Given the description of an element on the screen output the (x, y) to click on. 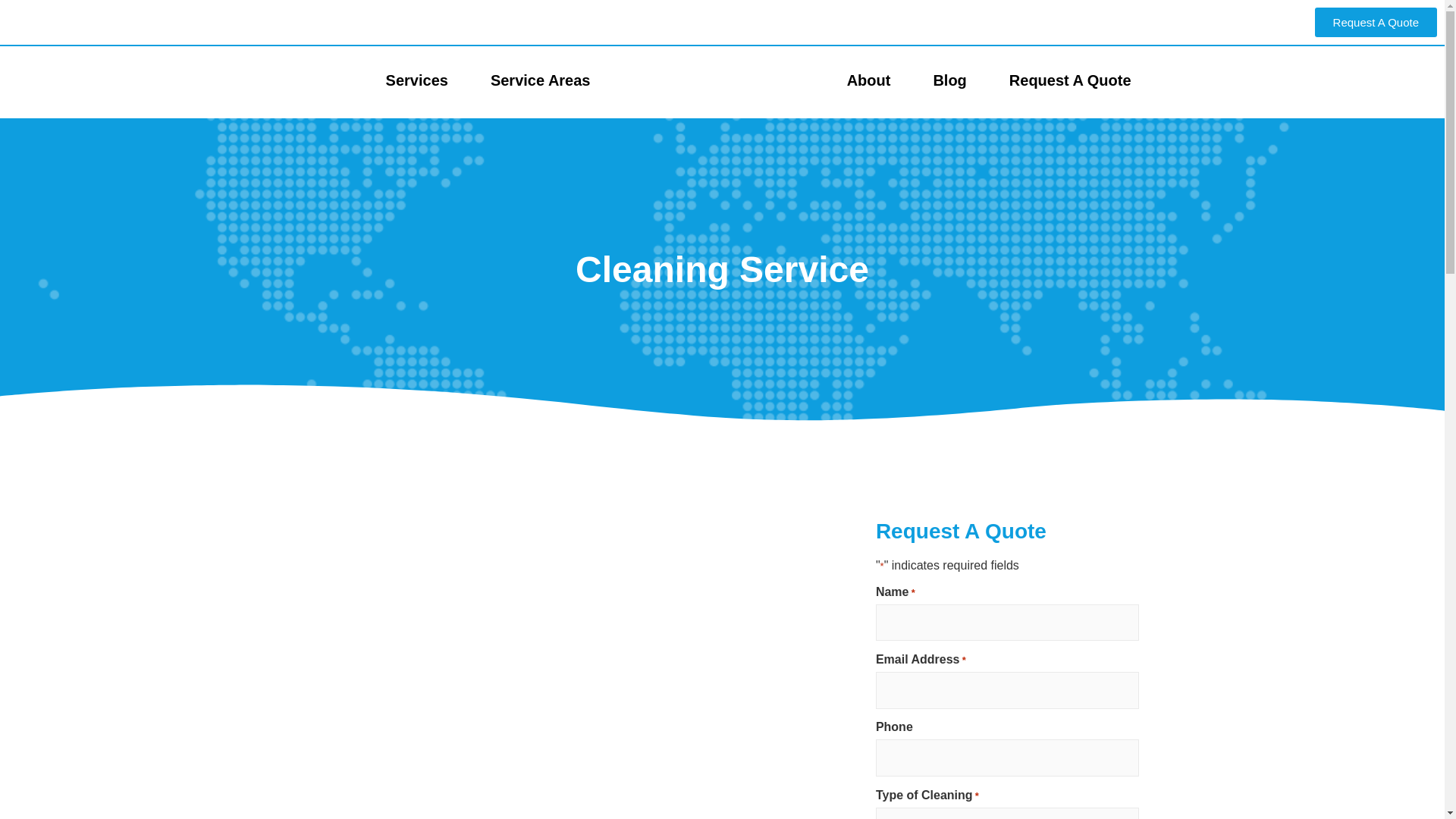
Request A Quote (1375, 21)
Service Areas (539, 80)
Services (416, 80)
